Given the description of an element on the screen output the (x, y) to click on. 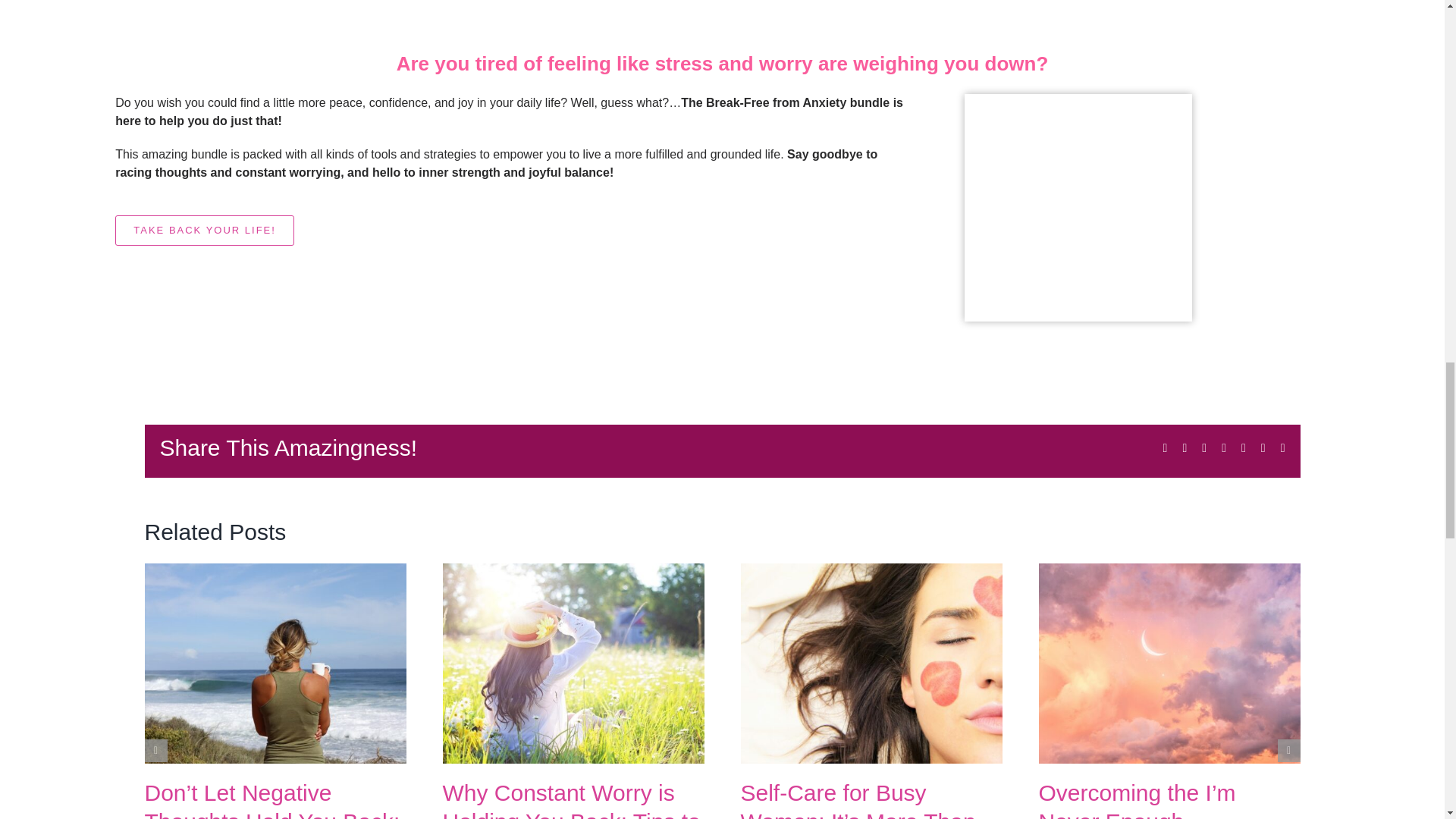
Why Constant Worry is Holding You Back: Tips to Overcome It (571, 799)
anxiety (1077, 207)
